Given the description of an element on the screen output the (x, y) to click on. 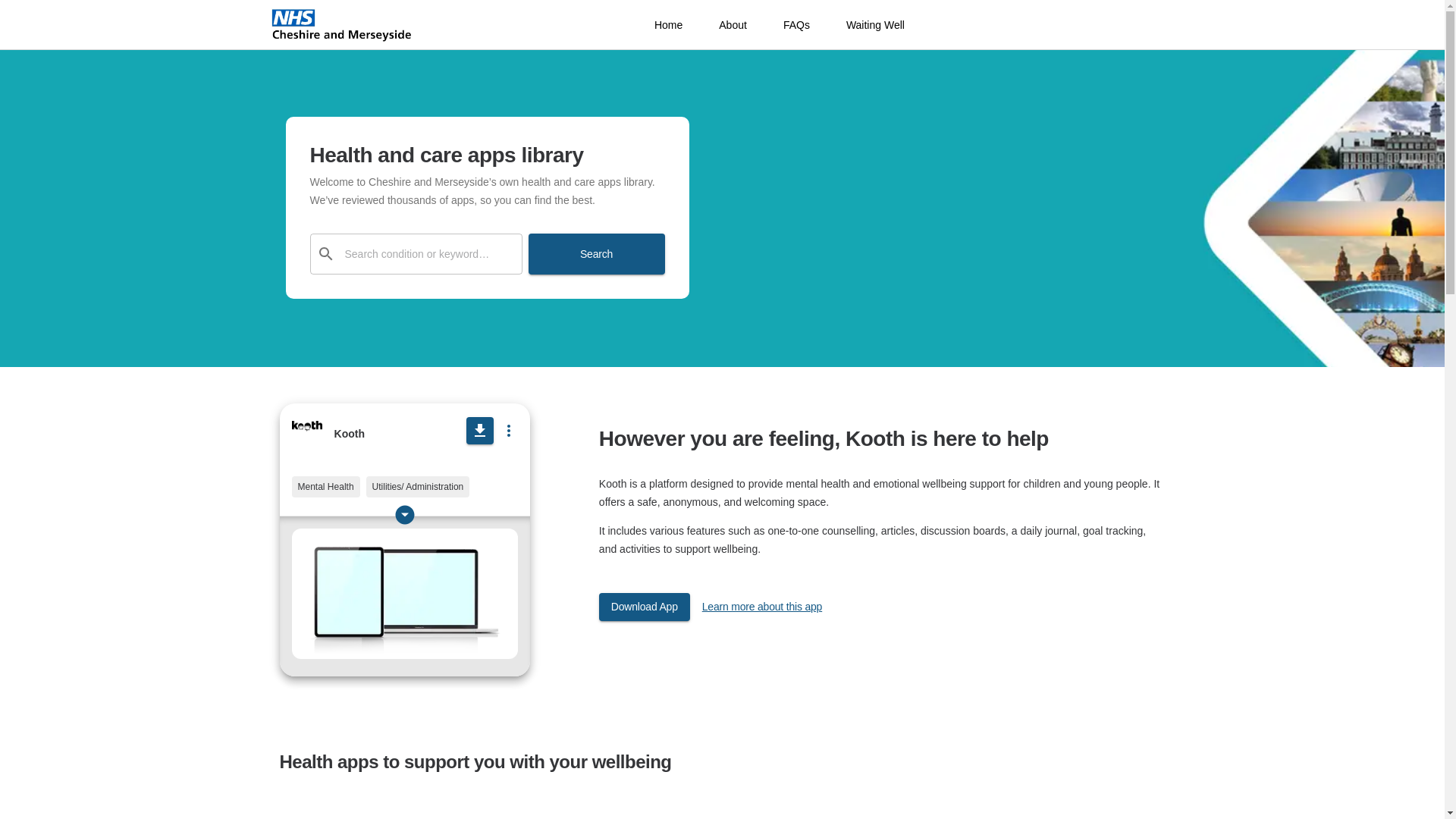
Download this app (479, 430)
Return to Homepage (341, 24)
FAQs (796, 24)
Search (595, 253)
Waiting Well (874, 24)
Menu for this app (508, 430)
Learn more about this app (761, 606)
About (732, 24)
Download App (644, 606)
Home (667, 24)
